Given the description of an element on the screen output the (x, y) to click on. 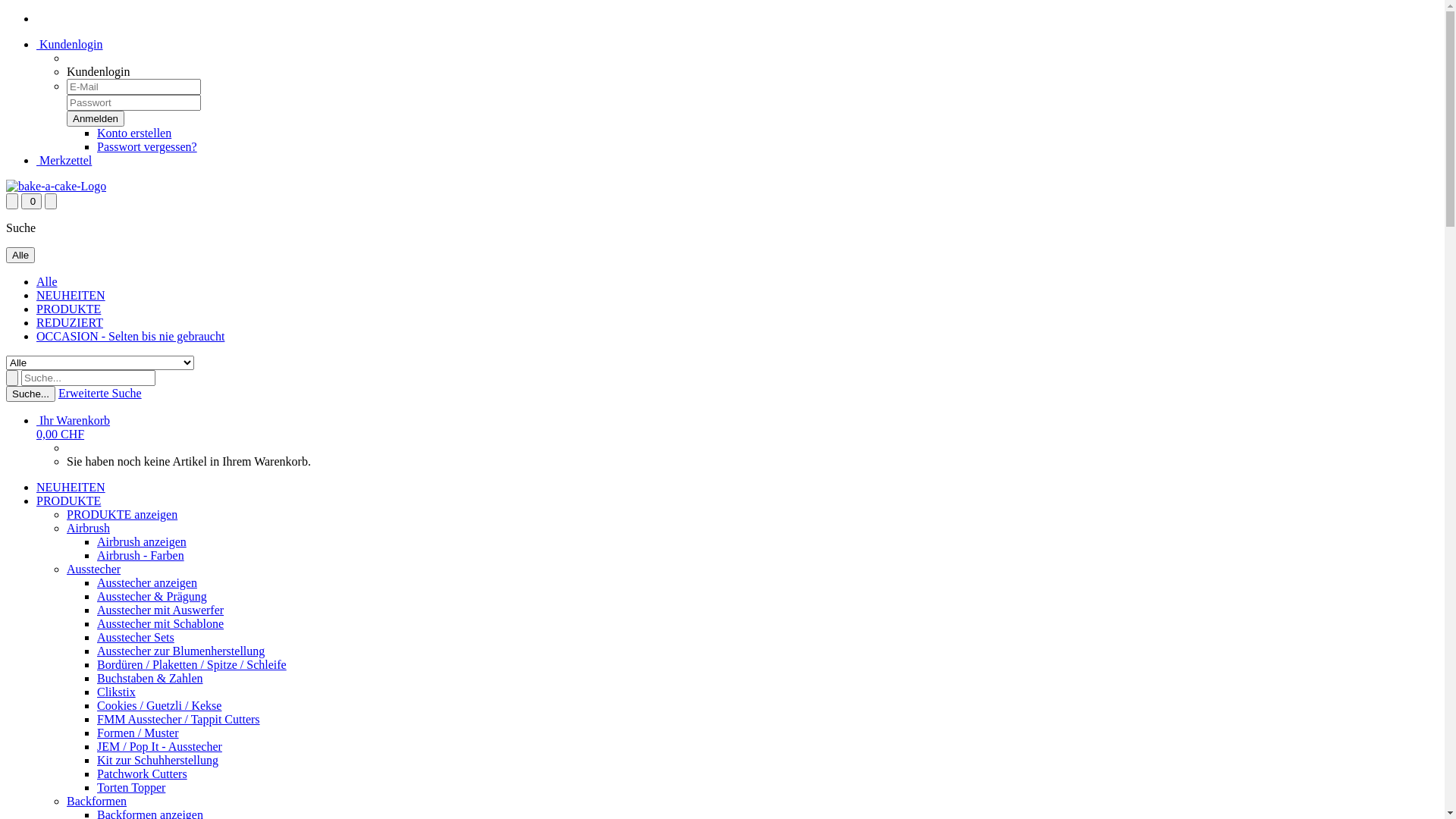
 Kundenlogin Element type: text (69, 43)
FMM Ausstecher / Tappit Cutters Element type: text (178, 718)
 Merkzettel Element type: text (63, 159)
Patchwork Cutters Element type: text (142, 773)
NEUHEITEN Element type: text (70, 486)
REDUZIERT Element type: text (69, 322)
JEM / Pop It - Ausstecher Element type: text (159, 746)
Clikstix Element type: text (116, 691)
Ausstecher mit Schablone Element type: text (160, 623)
Ausstecher anzeigen Element type: text (147, 582)
Erweiterte Suche Element type: text (99, 392)
Konto erstellen Element type: text (134, 132)
Alle Element type: text (20, 255)
Ausstecher Sets Element type: text (135, 636)
OCCASION - Selten bis nie gebraucht Element type: text (130, 335)
PRODUKTE Element type: text (68, 308)
Ausstecher zur Blumenherstellung Element type: text (180, 650)
Cookies / Guetzli / Kekse Element type: text (159, 705)
NEUHEITEN Element type: text (70, 294)
Airbrush Element type: text (87, 527)
Torten Topper Element type: text (131, 787)
Ihr Warenkorb
0,00 CHF Element type: text (72, 427)
0 Element type: text (31, 201)
PRODUKTE anzeigen Element type: text (121, 514)
Ausstecher mit Auswerfer Element type: text (160, 609)
Airbrush anzeigen Element type: text (141, 541)
Alle Element type: text (46, 281)
Airbrush - Farben Element type: text (140, 555)
Formen / Muster Element type: text (137, 732)
PRODUKTE Element type: text (68, 500)
bake-a-cake Element type: hover (56, 185)
Buchstaben & Zahlen Element type: text (150, 677)
Passwort vergessen? Element type: text (147, 146)
Backformen Element type: text (96, 800)
Kit zur Schuhherstellung Element type: text (157, 759)
Anmelden Element type: text (95, 118)
Suche... Element type: text (30, 393)
Ausstecher Element type: text (93, 568)
